Given the description of an element on the screen output the (x, y) to click on. 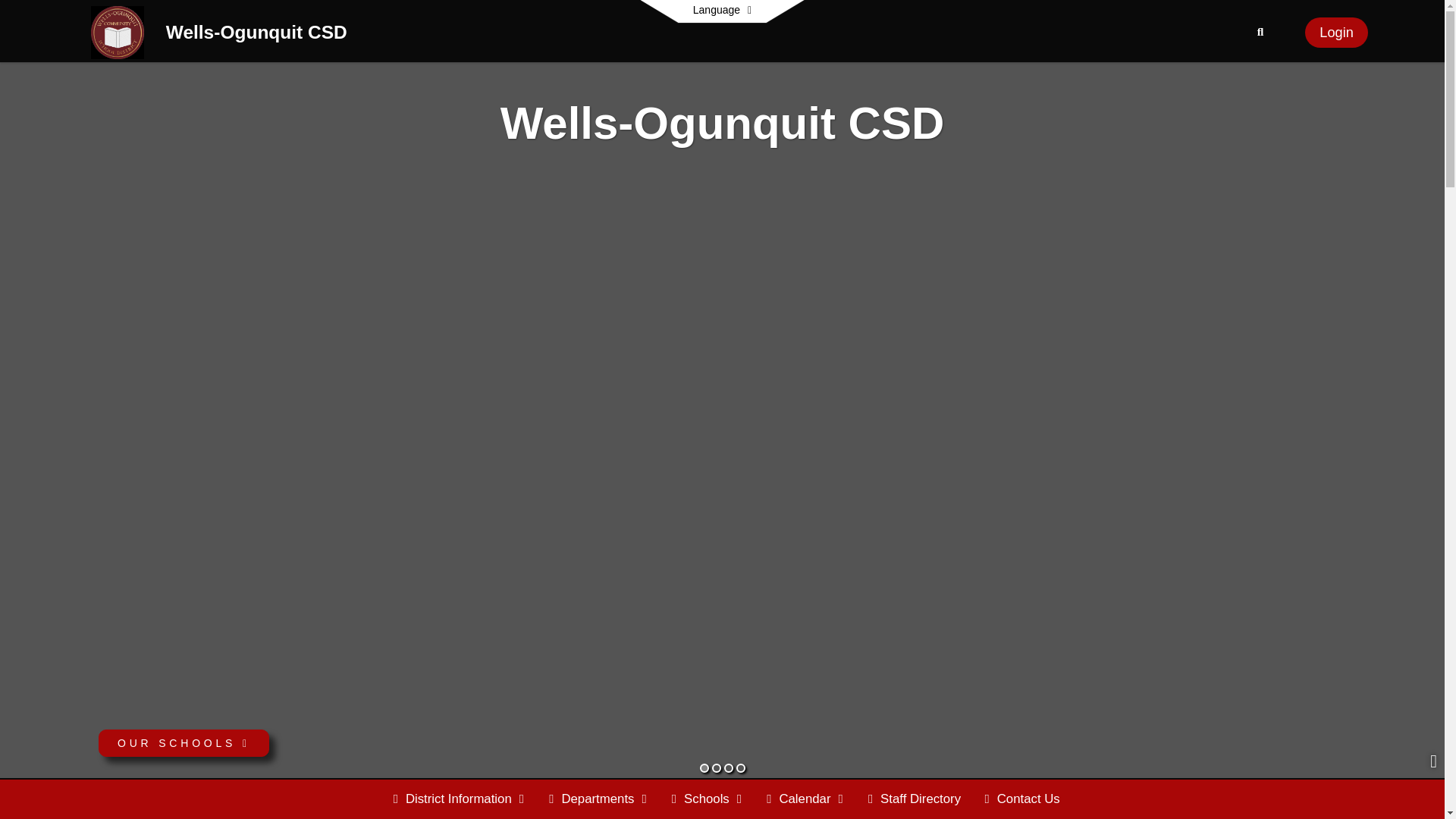
Departments (598, 799)
Calendar (804, 799)
OUR SCHOOLS  (184, 742)
Wells-Ogunquit CSD (256, 34)
District Information (458, 799)
Wells-Ogunquit CSD (256, 34)
Login (1336, 32)
Language (721, 11)
Contact Us (1021, 799)
Wells-Ogunquit CSD (117, 31)
